Given the description of an element on the screen output the (x, y) to click on. 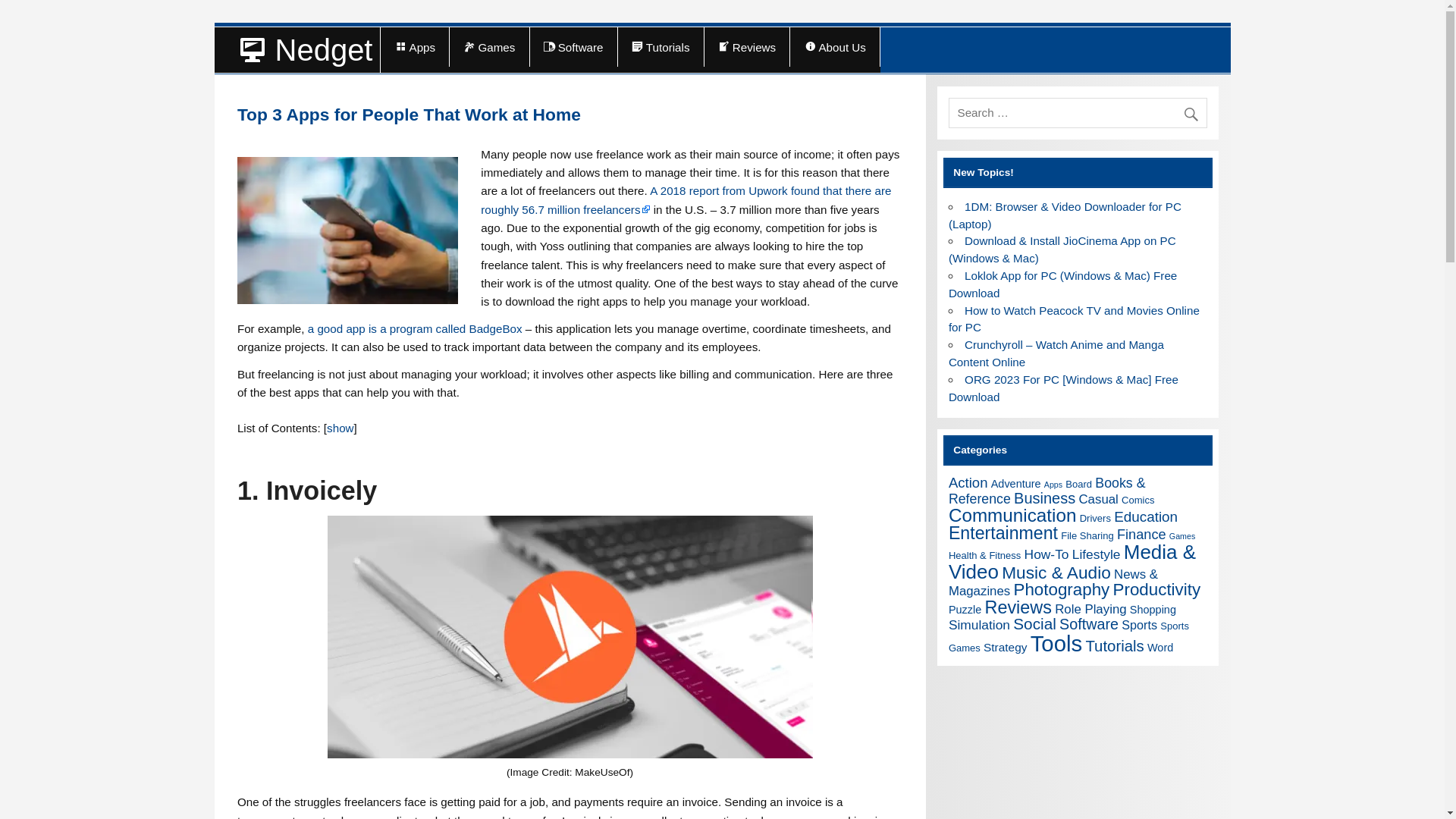
Reviews (747, 46)
Software (573, 46)
a good app is a program called BadgeBox (414, 328)
Games (488, 46)
About Us (834, 46)
Apps (414, 46)
show (339, 427)
Nedget (297, 49)
Tutorials (660, 46)
